Given the description of an element on the screen output the (x, y) to click on. 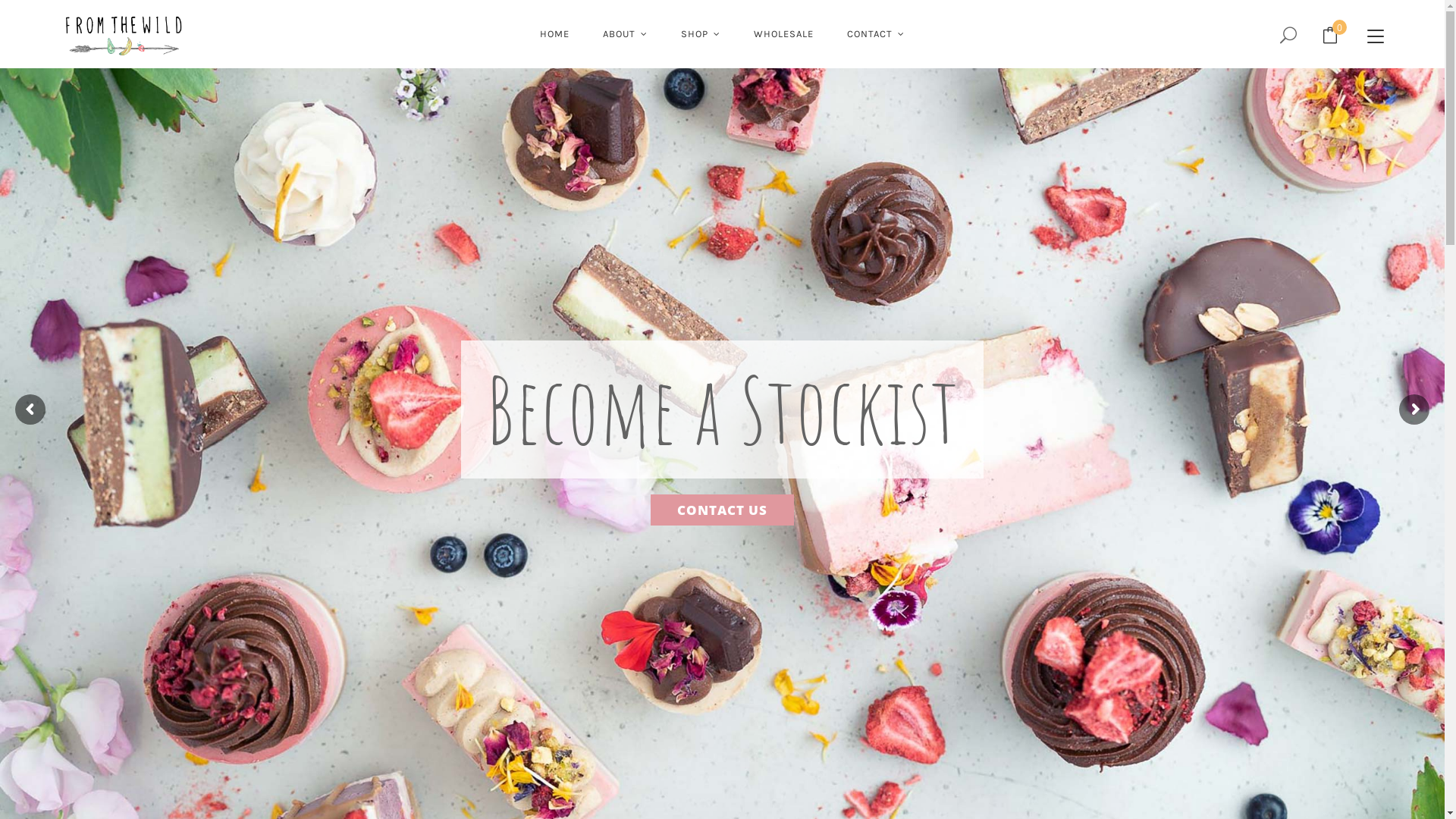
HOME Element type: text (554, 34)
WHOLESALE Element type: text (783, 34)
0 Element type: text (1329, 34)
SHOP Element type: text (700, 34)
ABOUT Element type: text (625, 34)
CONTACT Element type: text (875, 34)
